Given the description of an element on the screen output the (x, y) to click on. 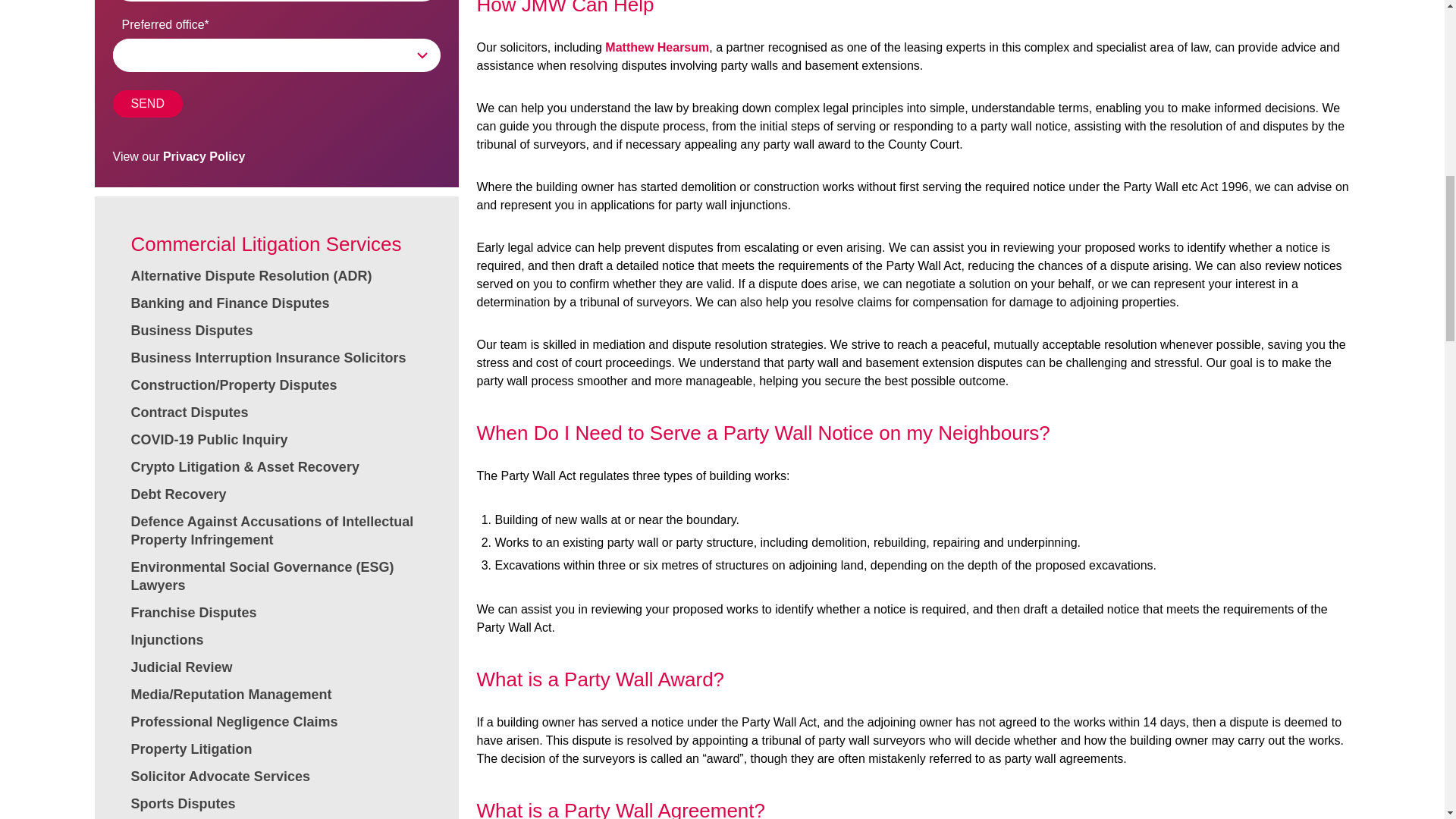
Matthew Hearsum (657, 47)
Franchise Disputes (193, 612)
Debt Recovery (178, 494)
Business Interruption Insurance Solicitors (268, 357)
COVID-19 Public Inquiry (208, 439)
Contract Disputes (189, 412)
Business Disputes (191, 330)
Judicial Review (181, 667)
Sports Disputes (182, 803)
Injunctions (167, 639)
